Given the description of an element on the screen output the (x, y) to click on. 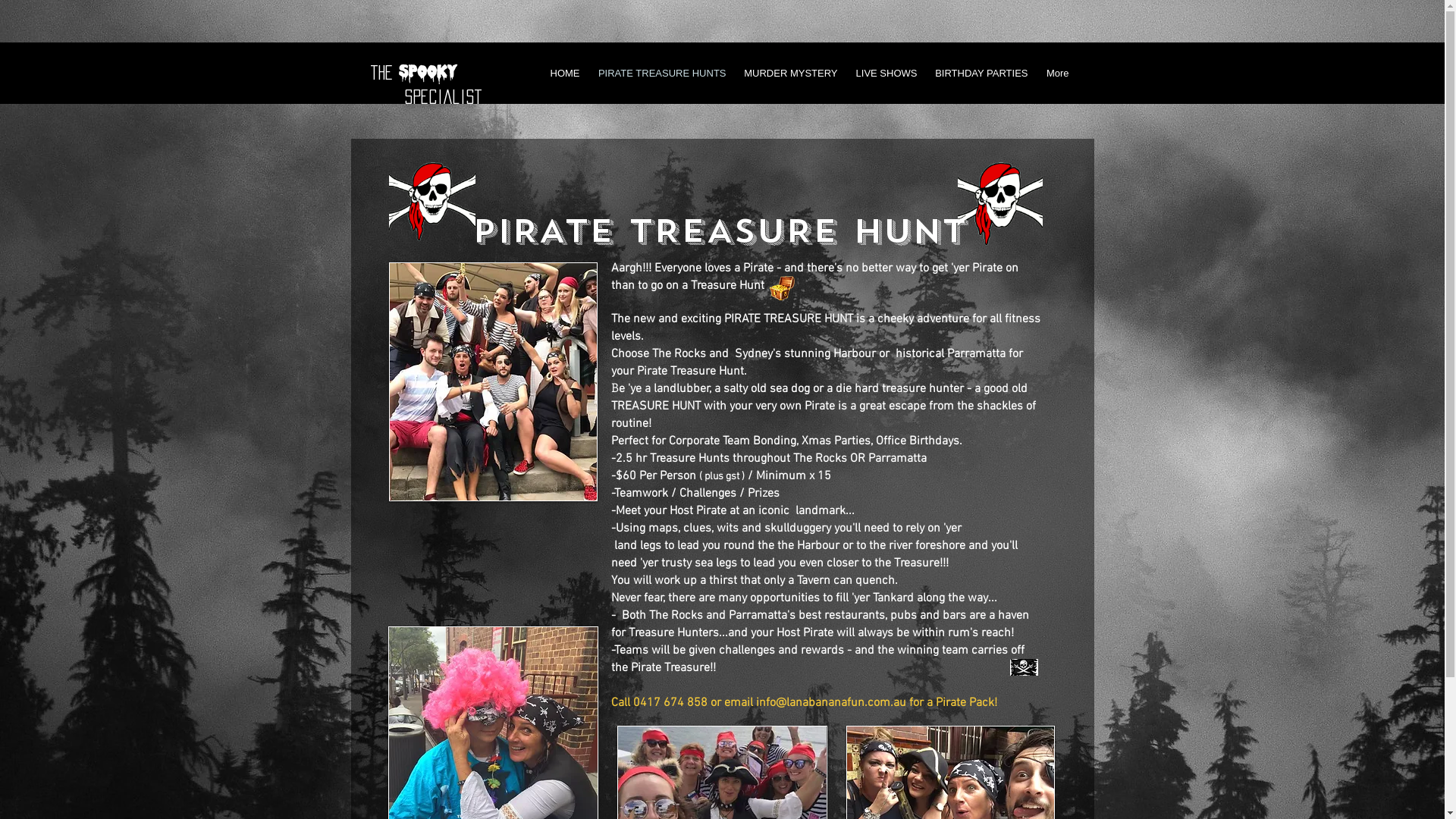
the            specialist Element type: text (426, 83)
MURDER MYSTERY Element type: text (789, 73)
PIRATE TREASURE HUNTS Element type: text (661, 73)
HOME Element type: text (563, 73)
LIVE SHOWS Element type: text (885, 73)
BIRTHDAY PARTIES Element type: text (980, 73)
